Given the description of an element on the screen output the (x, y) to click on. 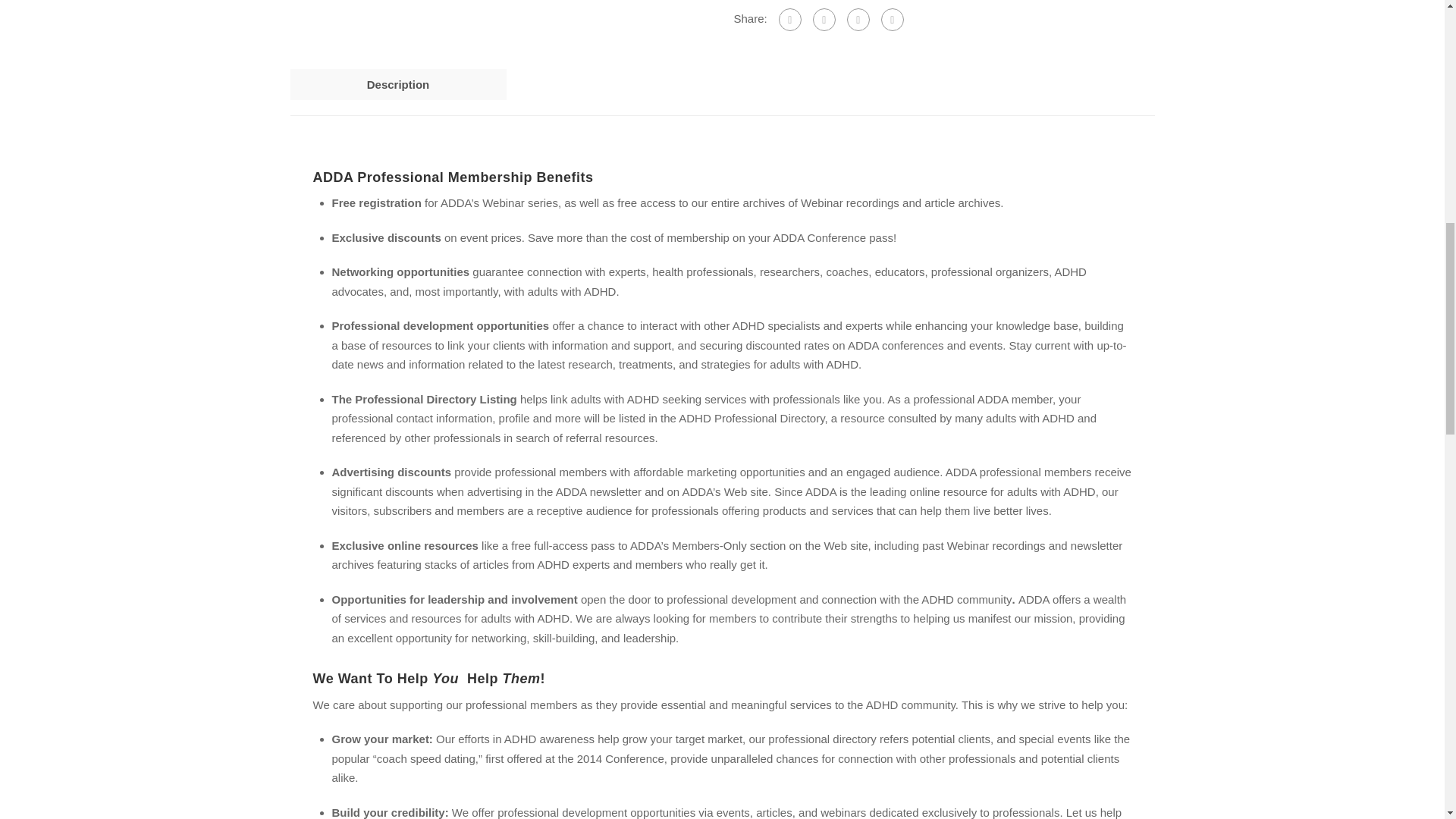
Pinterest (858, 19)
Facebook (790, 19)
Twitter (823, 19)
